Given the description of an element on the screen output the (x, y) to click on. 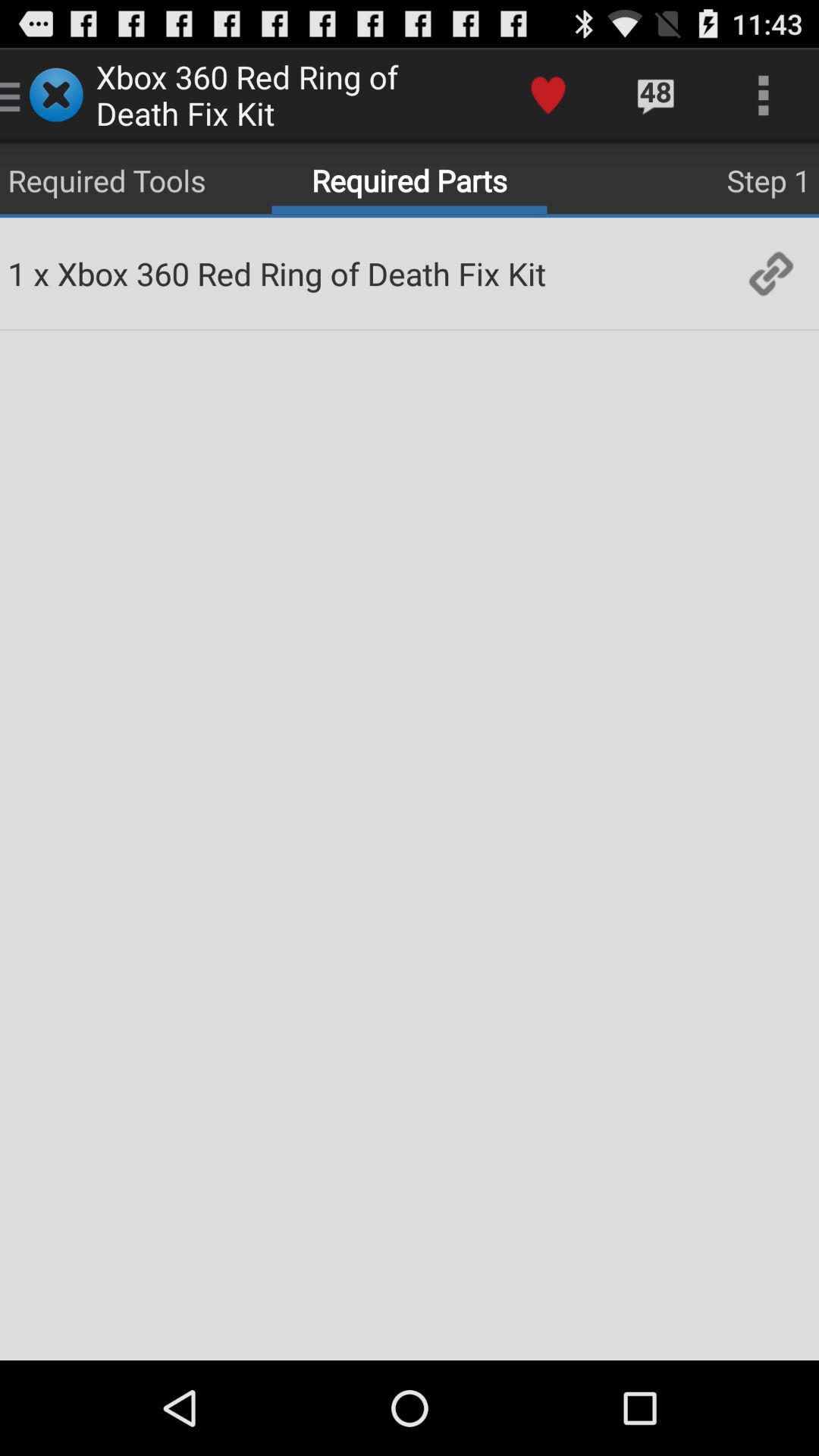
press the icon next to xbox 360 red (41, 273)
